Given the description of an element on the screen output the (x, y) to click on. 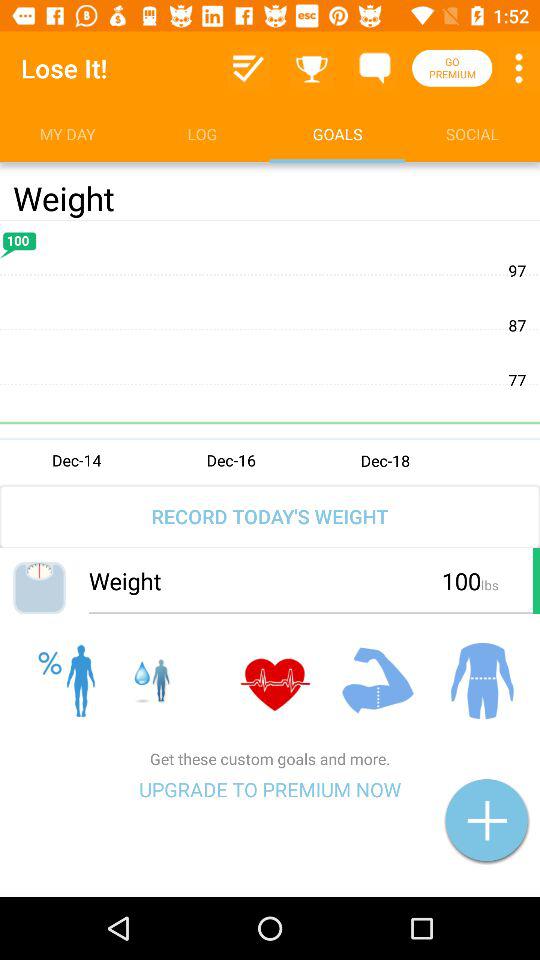
choose item above the record today s item (270, 351)
